Given the description of an element on the screen output the (x, y) to click on. 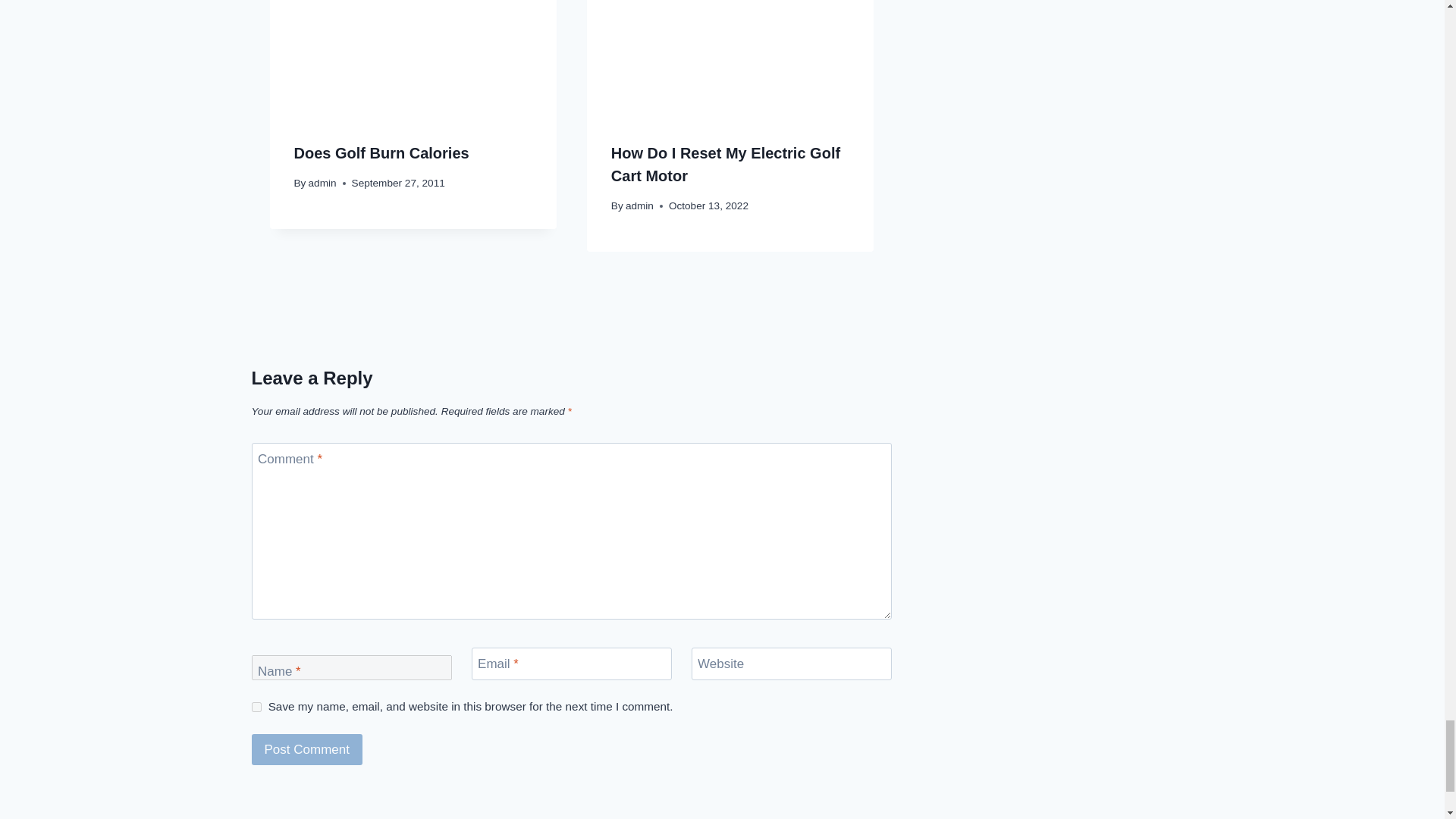
yes (256, 706)
Post Comment (306, 748)
